Given the description of an element on the screen output the (x, y) to click on. 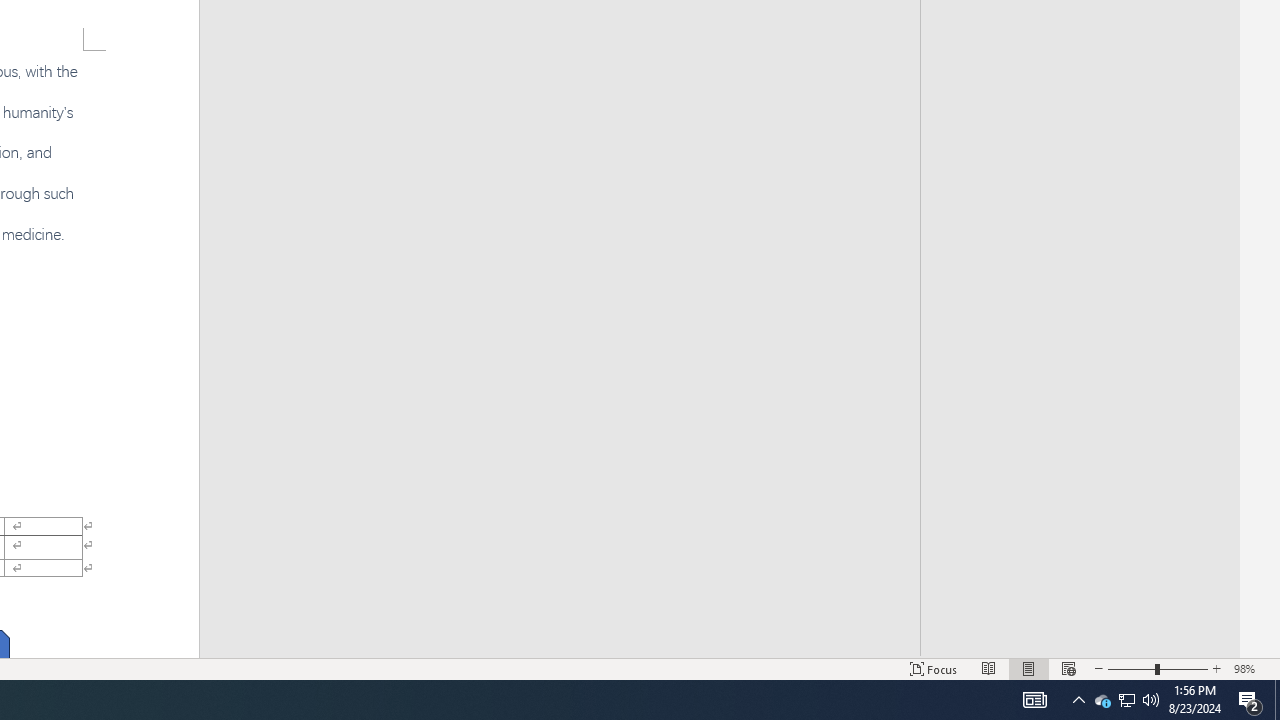
Zoom (1158, 668)
